Given the description of an element on the screen output the (x, y) to click on. 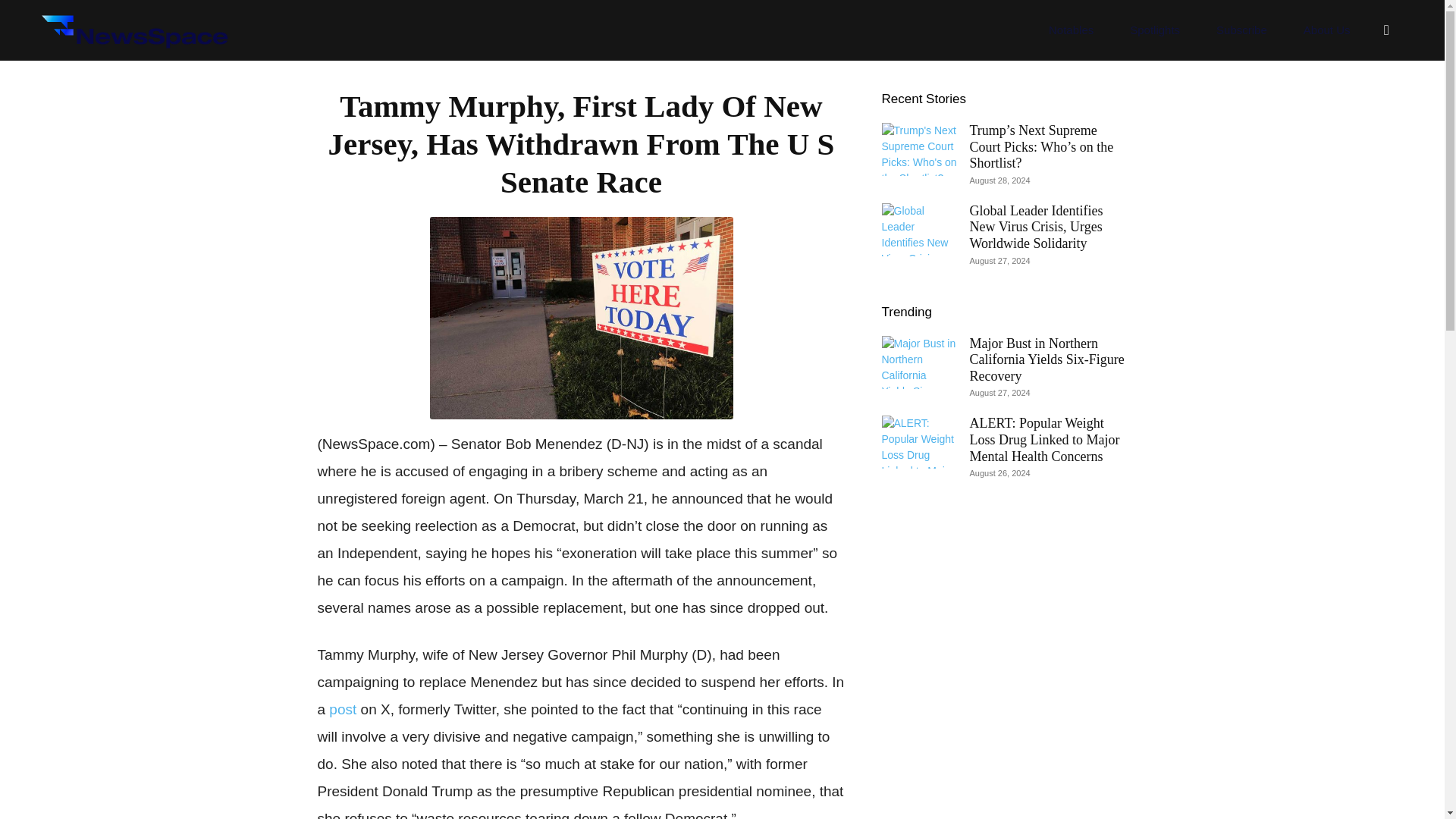
Subscribe (1241, 30)
post (342, 709)
News Space (133, 30)
Search (1354, 102)
Notables (1071, 30)
Major Bust in Northern California Yields Six-Figure Recovery (1046, 359)
A,Vote,Here,Today,Sign,Stands,Outside,Of,A,Polling (580, 318)
